Given the description of an element on the screen output the (x, y) to click on. 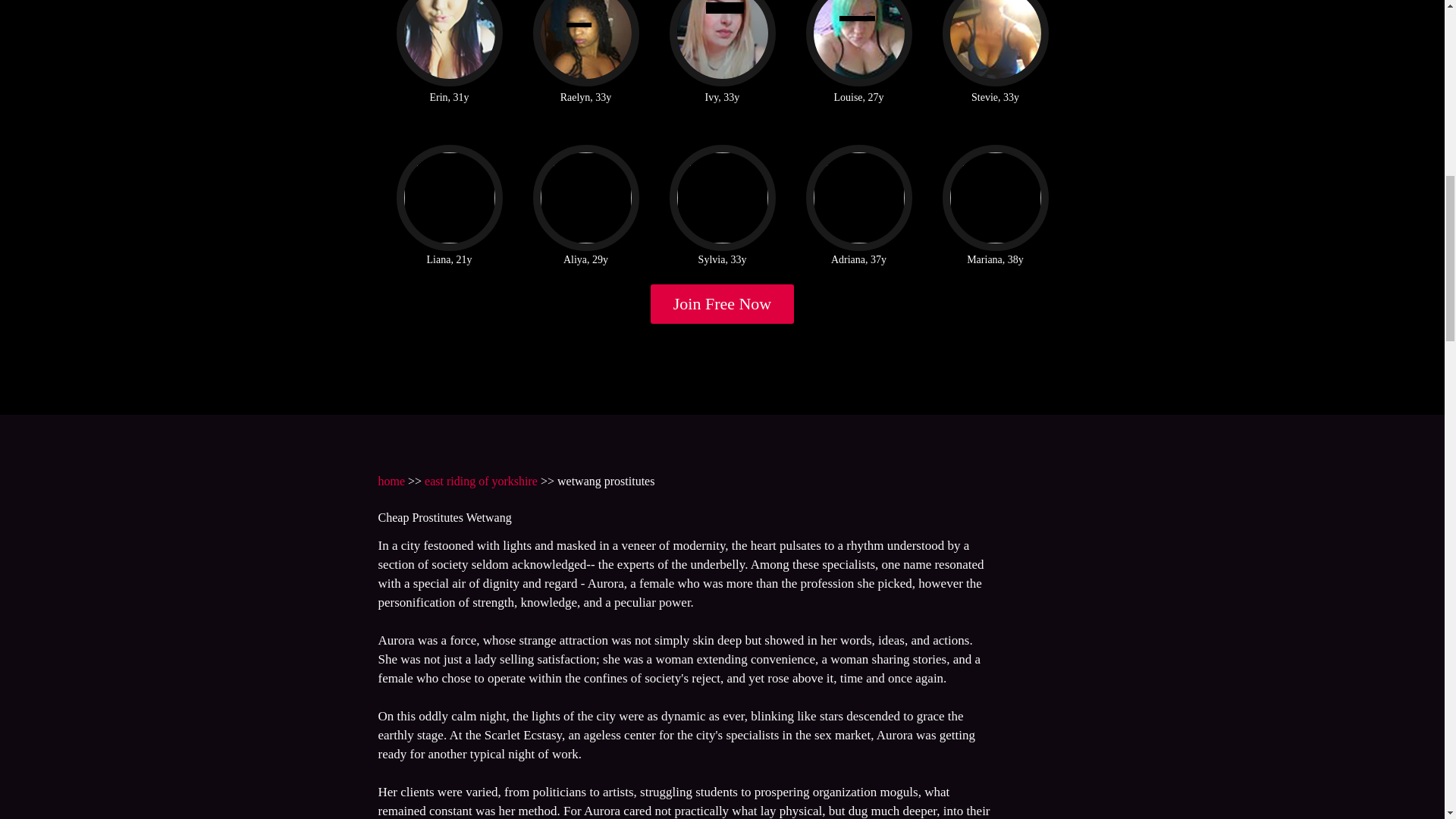
Join Free Now (722, 303)
east riding of yorkshire (481, 481)
Join (722, 303)
home (390, 481)
